Given the description of an element on the screen output the (x, y) to click on. 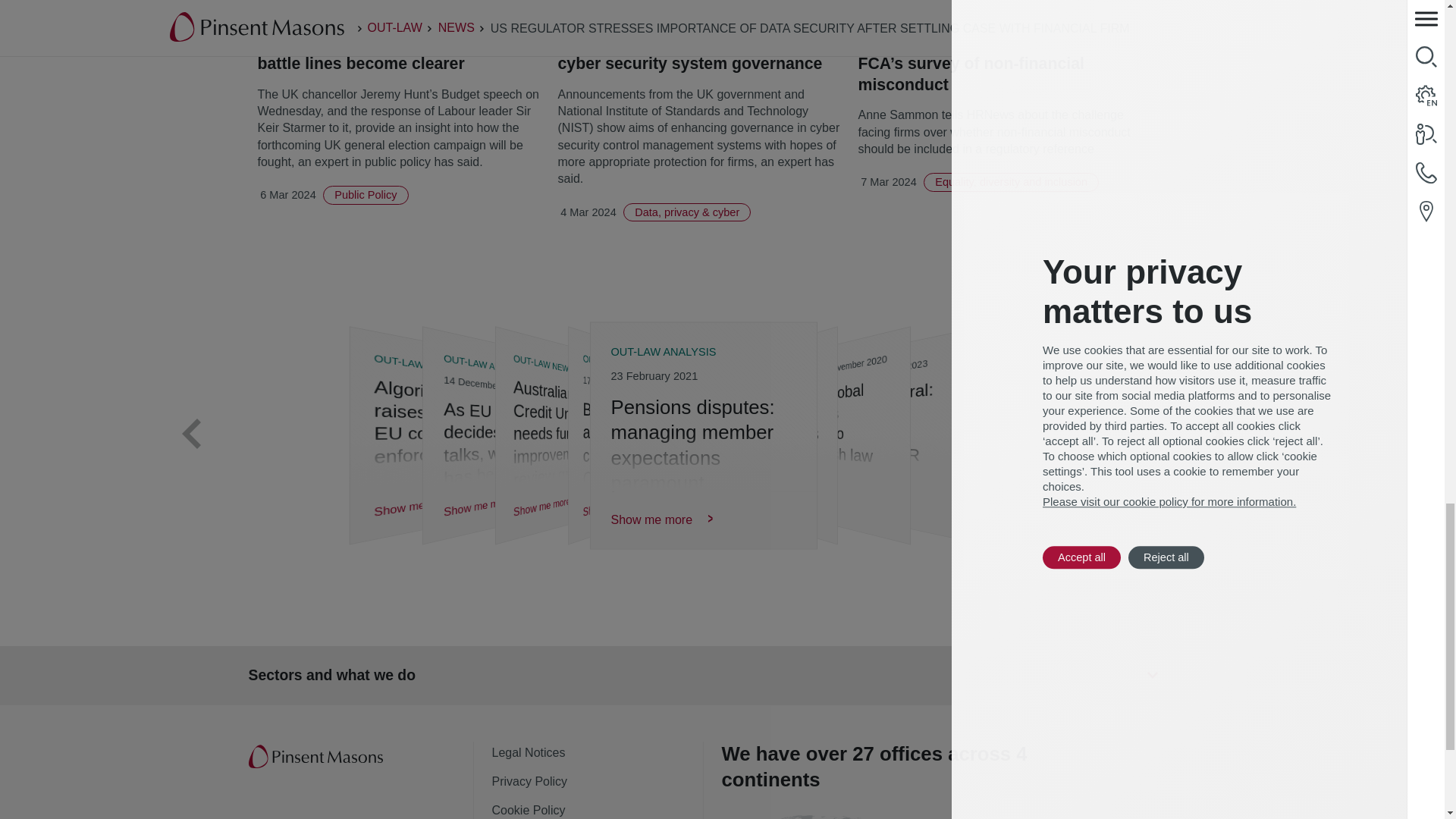
Pinsent Masons (316, 757)
